Given the description of an element on the screen output the (x, y) to click on. 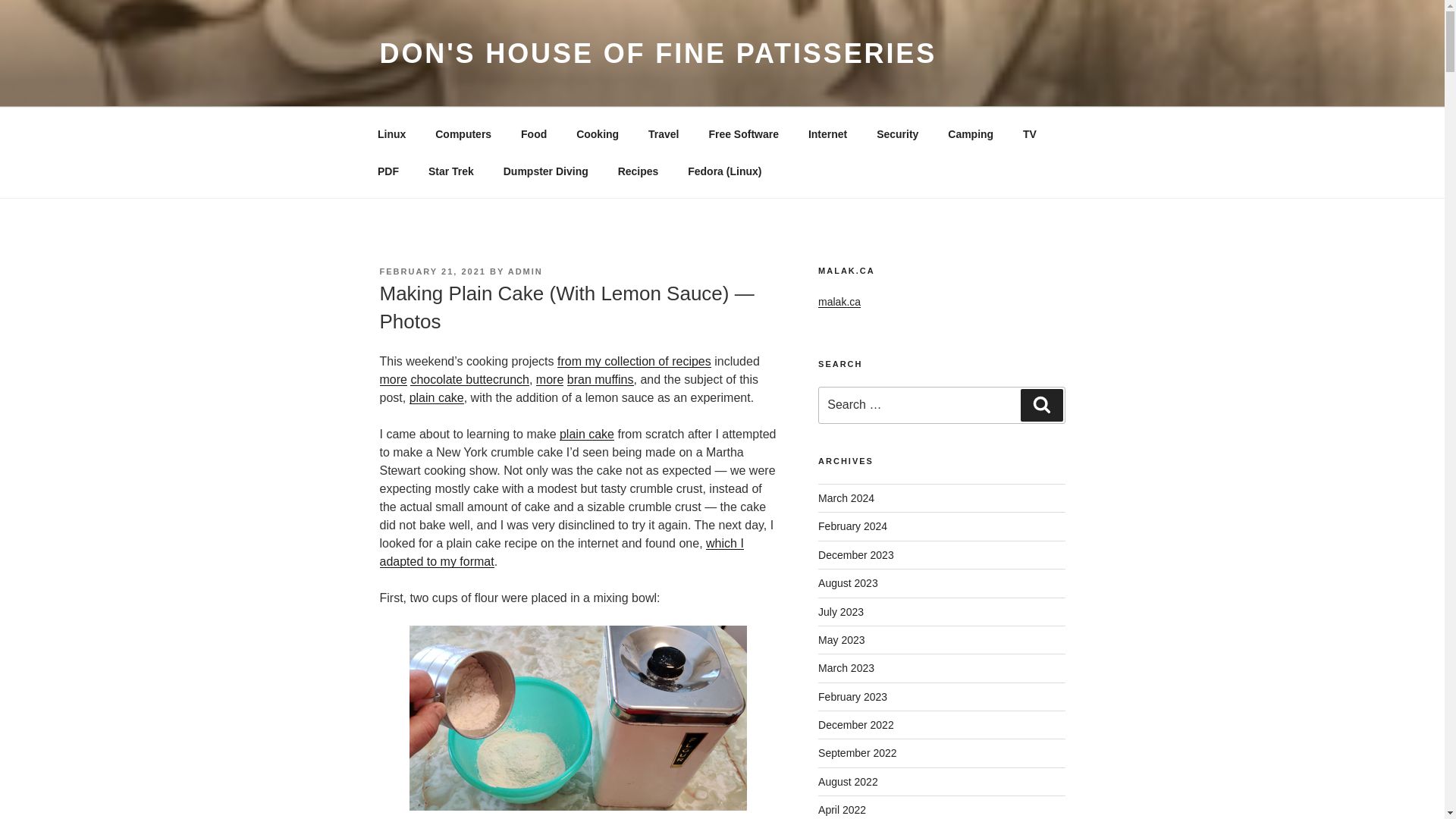
Camping (970, 133)
ADMIN (525, 271)
Food (534, 133)
Free Software (743, 133)
TV (1029, 133)
FEBRUARY 21, 2021 (431, 271)
from my collection of recipes (634, 360)
Cooking (597, 133)
Recipes (637, 171)
Computers (463, 133)
Travel (663, 133)
bran muffins (600, 379)
Star Trek (450, 171)
malak.ca (839, 301)
which I adapted to my format (560, 552)
